Given the description of an element on the screen output the (x, y) to click on. 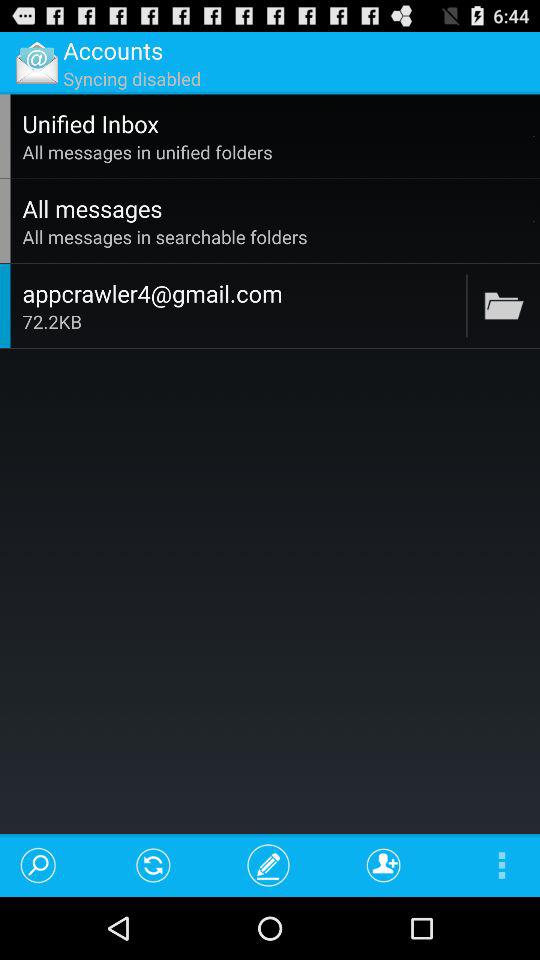
tap app below the 72.2kb icon (383, 864)
